Given the description of an element on the screen output the (x, y) to click on. 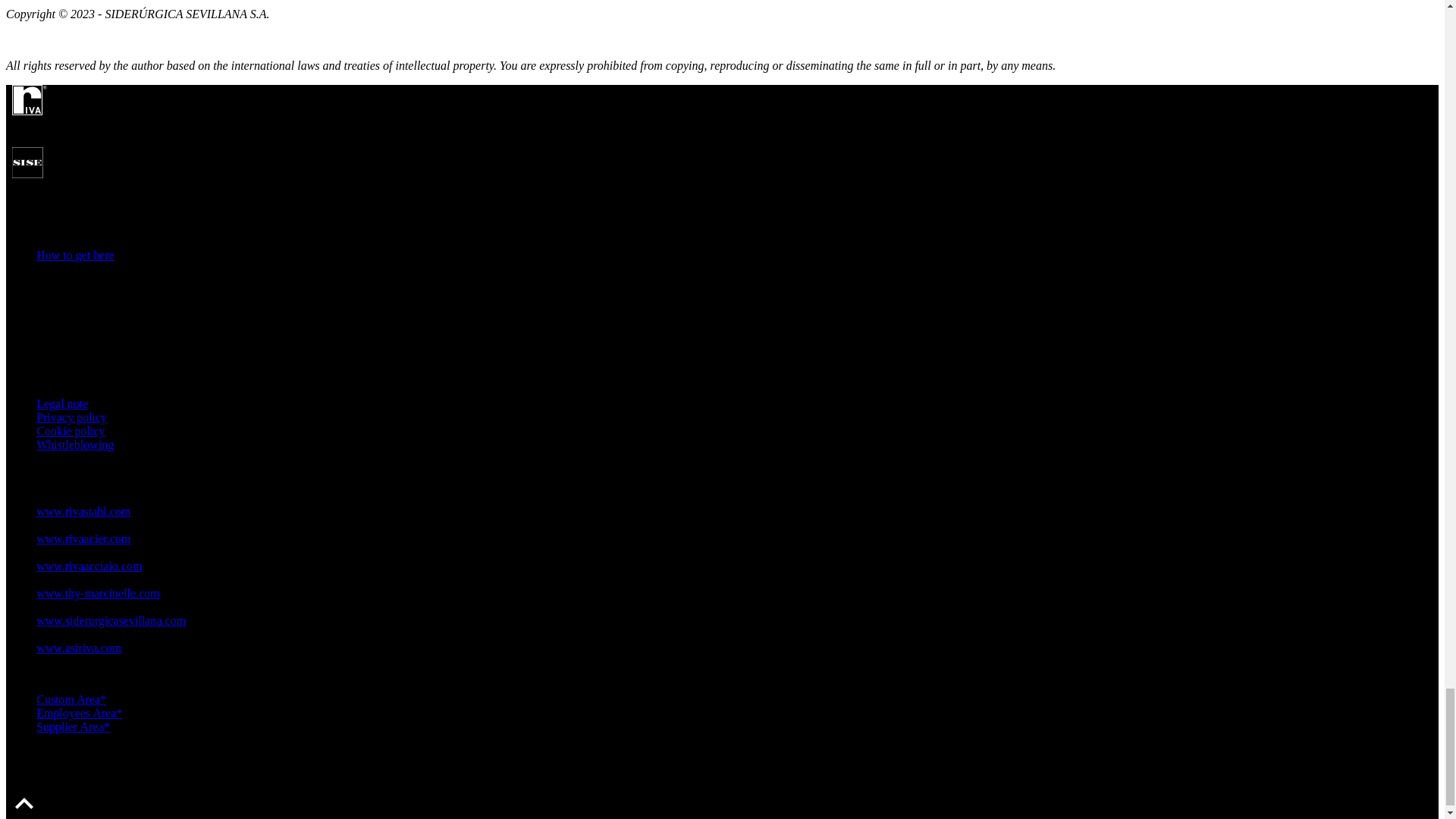
Cookie policy (70, 431)
Legal note (61, 403)
Whistleblowing (74, 444)
Privacy policy (71, 417)
Employees Area (79, 712)
